Given the description of an element on the screen output the (x, y) to click on. 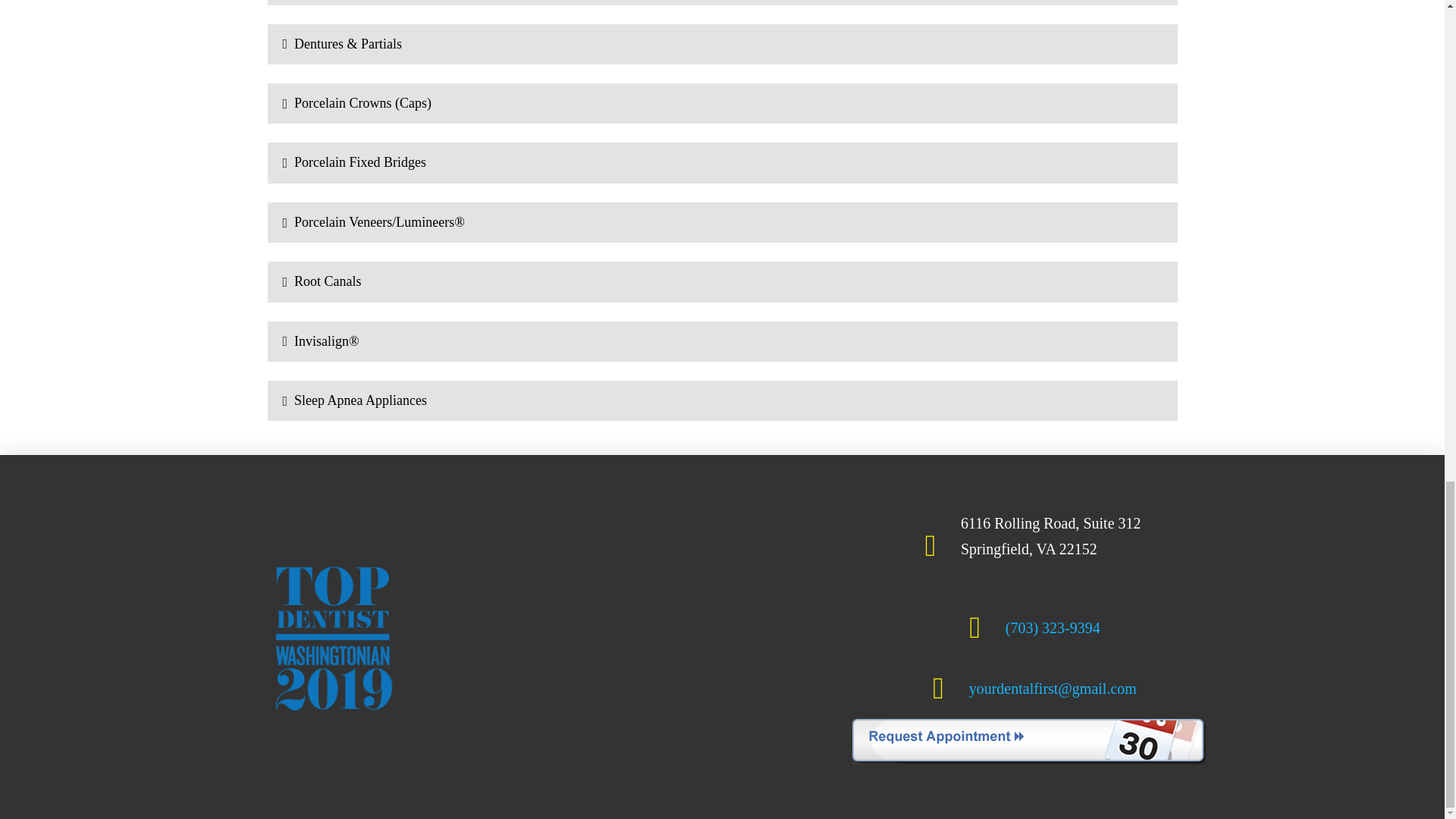
Porcelain Fixed Bridges (721, 162)
Root Canals (721, 281)
Sleep Apnea Appliances (721, 400)
